Given the description of an element on the screen output the (x, y) to click on. 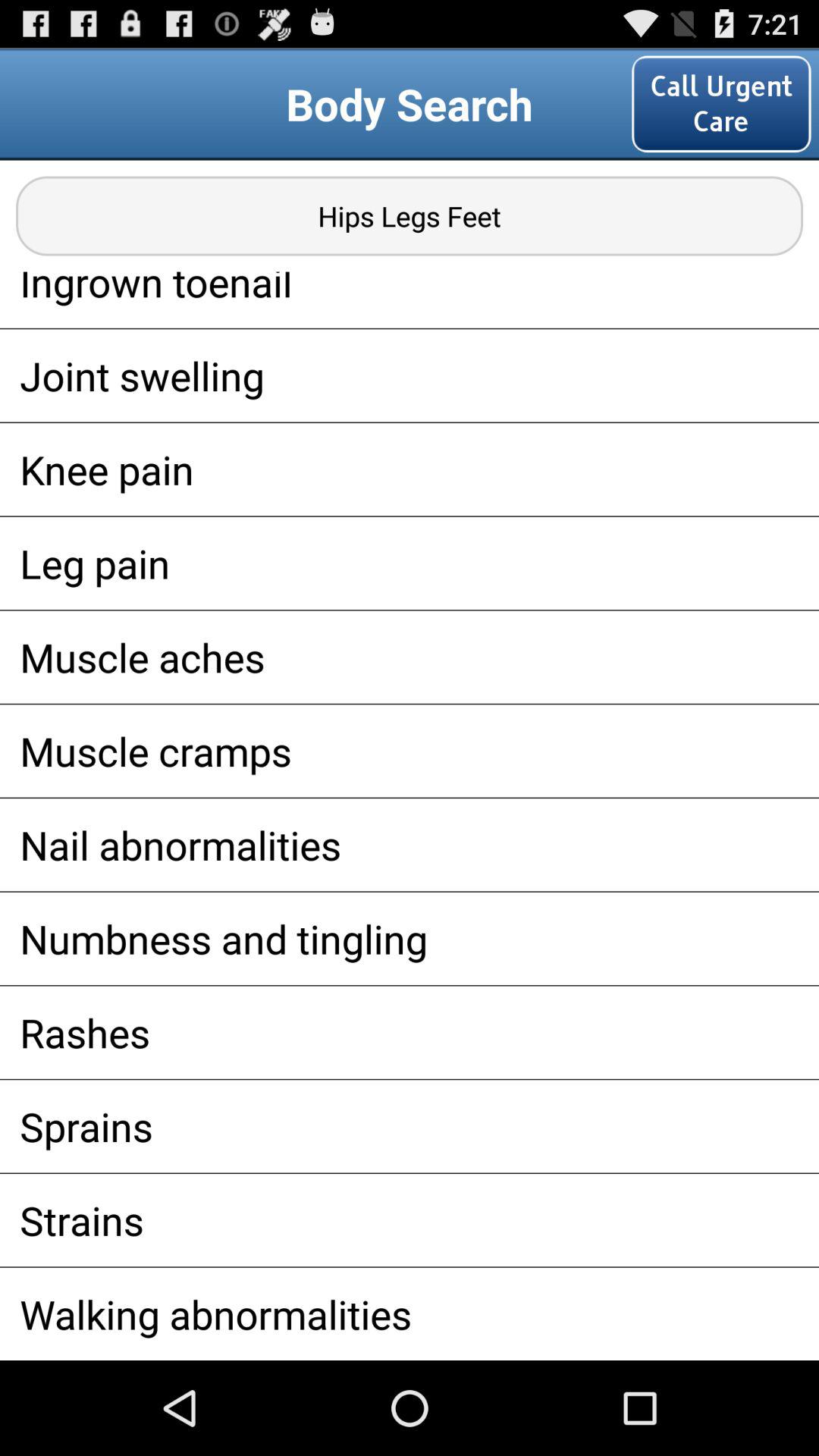
press the icon below nail abnormalities item (409, 938)
